Given the description of an element on the screen output the (x, y) to click on. 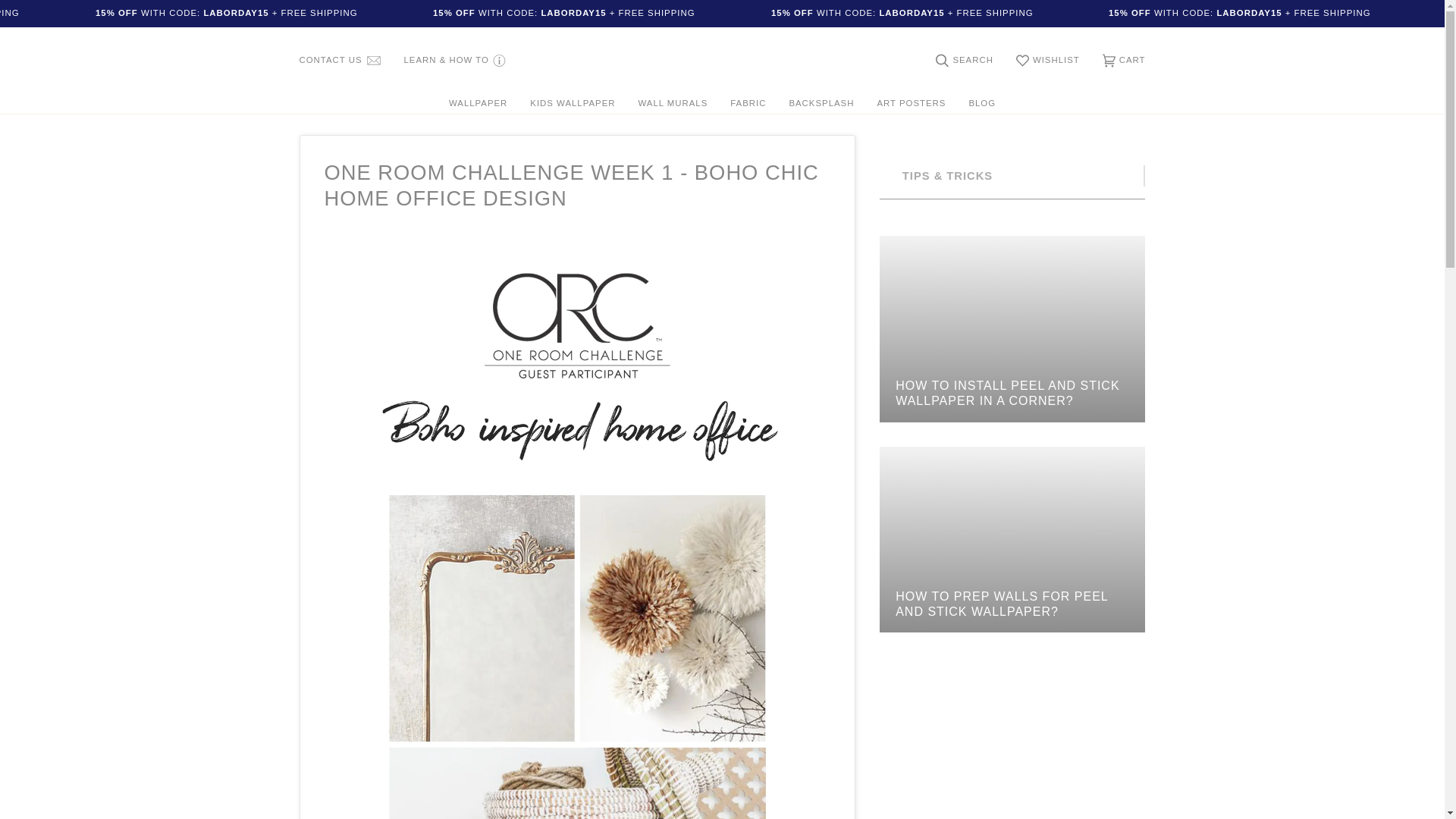
WALLPAPER (478, 103)
SEARCH (964, 60)
CONTACT US (340, 60)
WISHLIST (1047, 60)
